Given the description of an element on the screen output the (x, y) to click on. 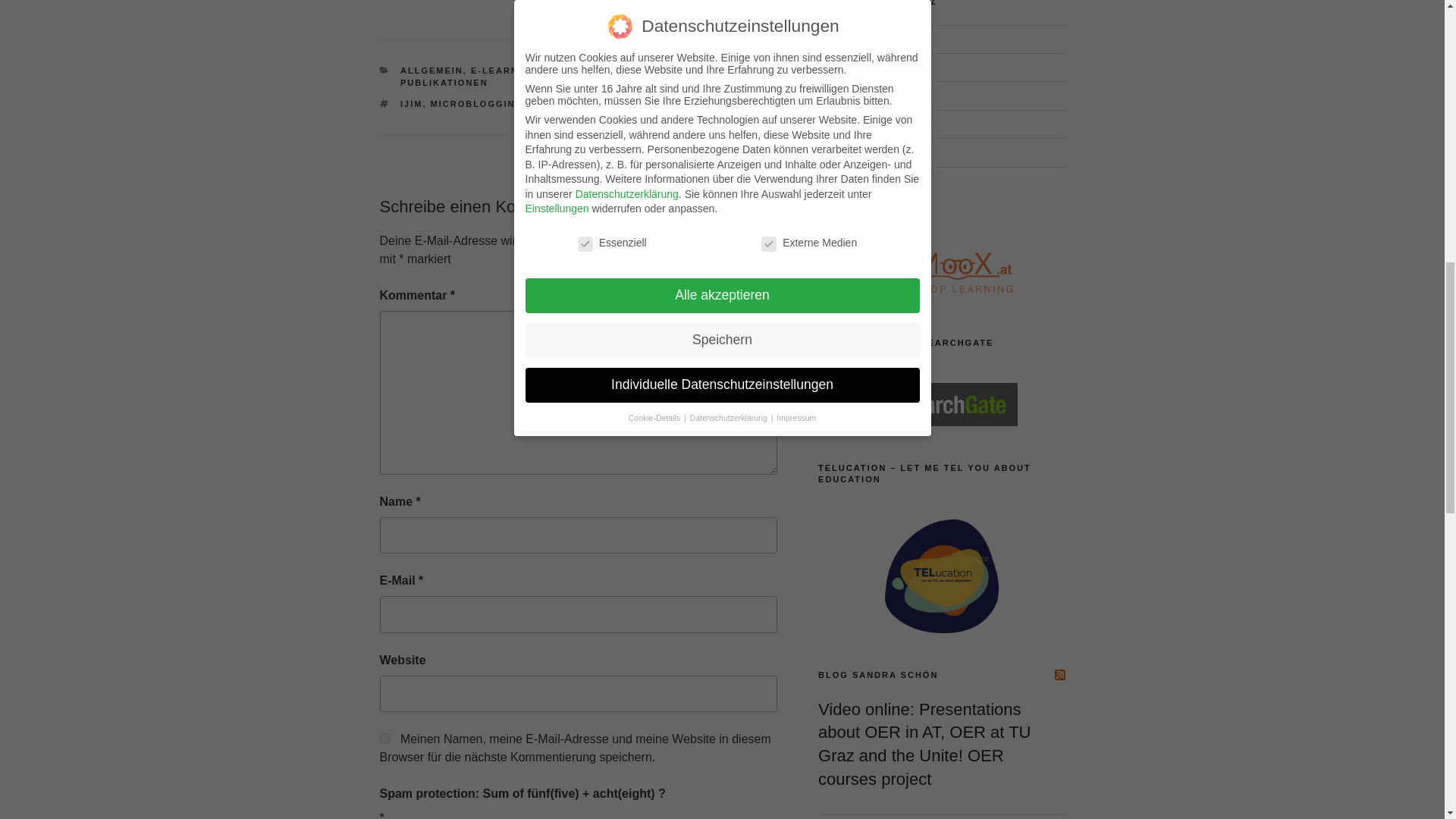
MICROBLOGGING (477, 103)
PUBLIKATIONEN (443, 81)
iMooX (833, 67)
Abteilung e-Learning TU Graz (865, 39)
MOBIL (638, 70)
PUBLICATION (615, 103)
MOOC Plattform iMooX (833, 67)
E-Learning TU Graz (865, 39)
Videoplattform TUbe (866, 152)
NEUENTWICKLUNG (714, 70)
E-LEARNING (503, 70)
M-LEARNING (578, 70)
IJIM (411, 103)
yes (383, 737)
TU Graz TeachCenter (869, 123)
